Given the description of an element on the screen output the (x, y) to click on. 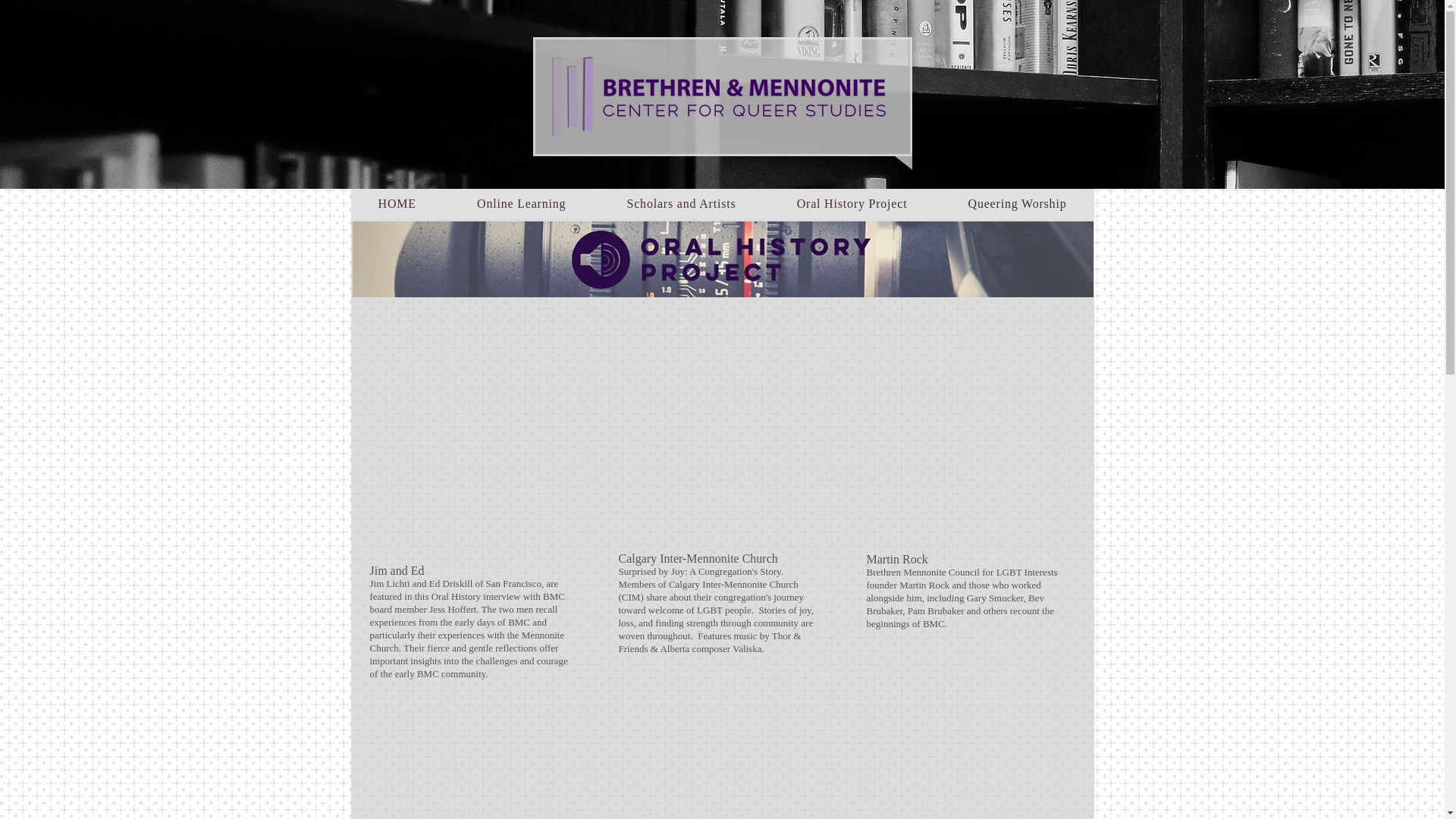
External YouTube (472, 776)
Online Learning (520, 204)
Scholars and Artists (680, 204)
Oral History Project (852, 204)
HOME (396, 204)
External YouTube (721, 776)
External YouTube (721, 462)
External YouTube (472, 462)
External YouTube (969, 775)
Queering Worship (1016, 204)
